Given the description of an element on the screen output the (x, y) to click on. 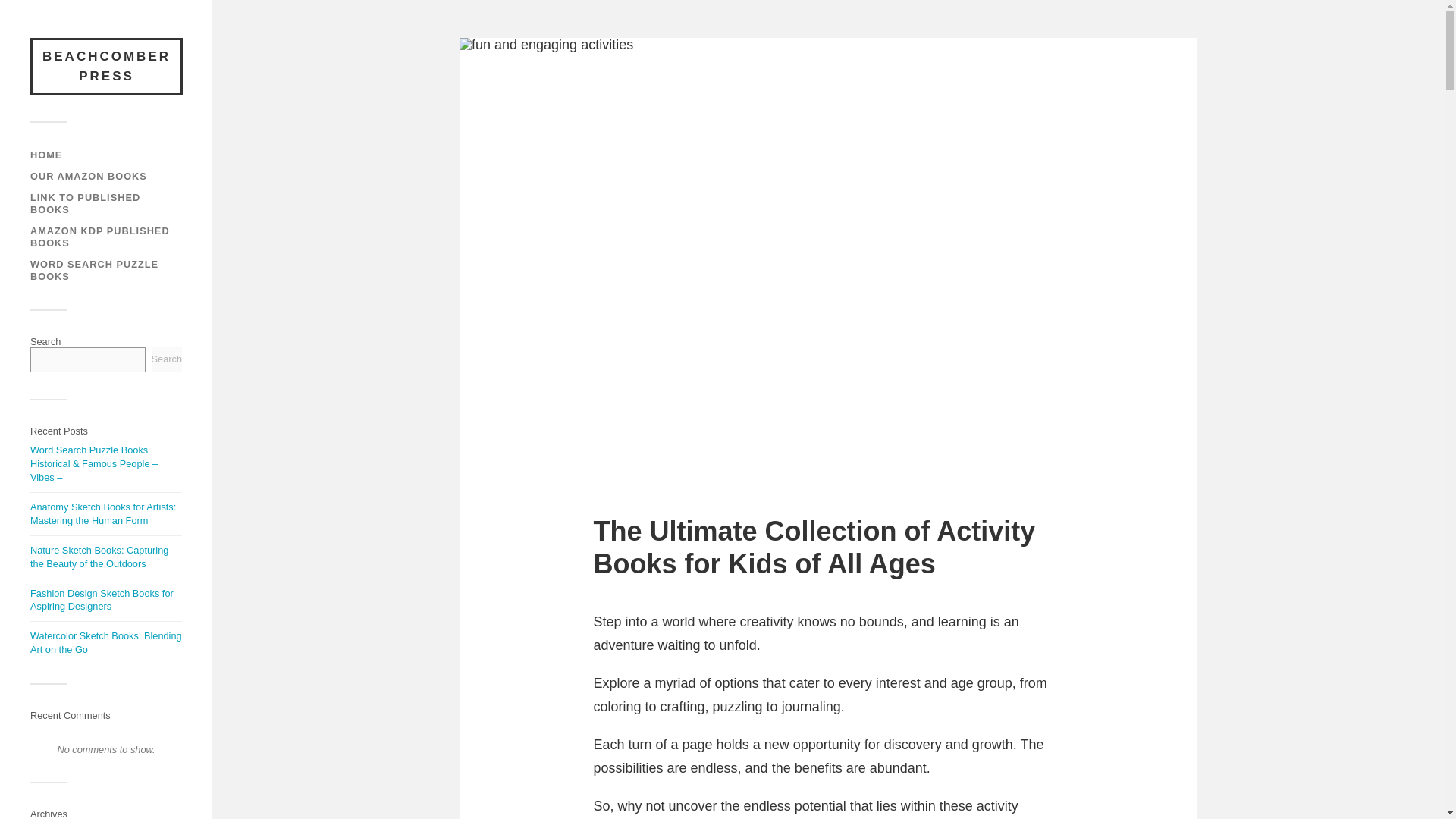
Anatomy Sketch Books for Artists: Mastering the Human Form (103, 513)
OUR AMAZON BOOKS (88, 175)
LINK TO PUBLISHED BOOKS (84, 203)
WORD SEARCH PUZZLE BOOKS (94, 269)
Nature Sketch Books: Capturing the Beauty of the Outdoors (99, 556)
AMAZON KDP PUBLISHED BOOKS (100, 236)
Fashion Design Sketch Books for Aspiring Designers (101, 600)
Watercolor Sketch Books: Blending Art on the Go (106, 642)
Search (166, 359)
BEACHCOMBER PRESS (106, 66)
